Given the description of an element on the screen output the (x, y) to click on. 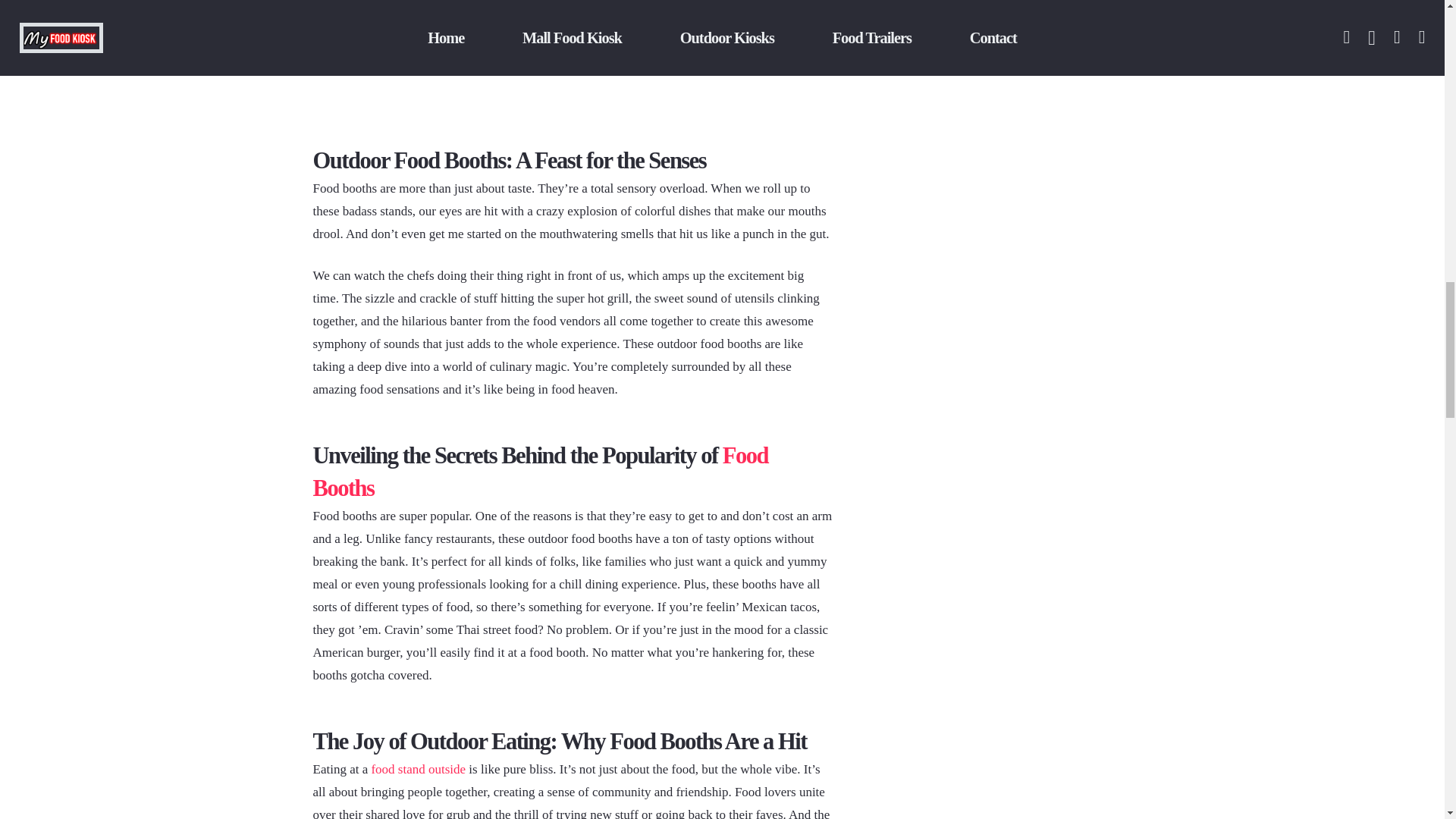
Food Booths (540, 472)
